Given the description of an element on the screen output the (x, y) to click on. 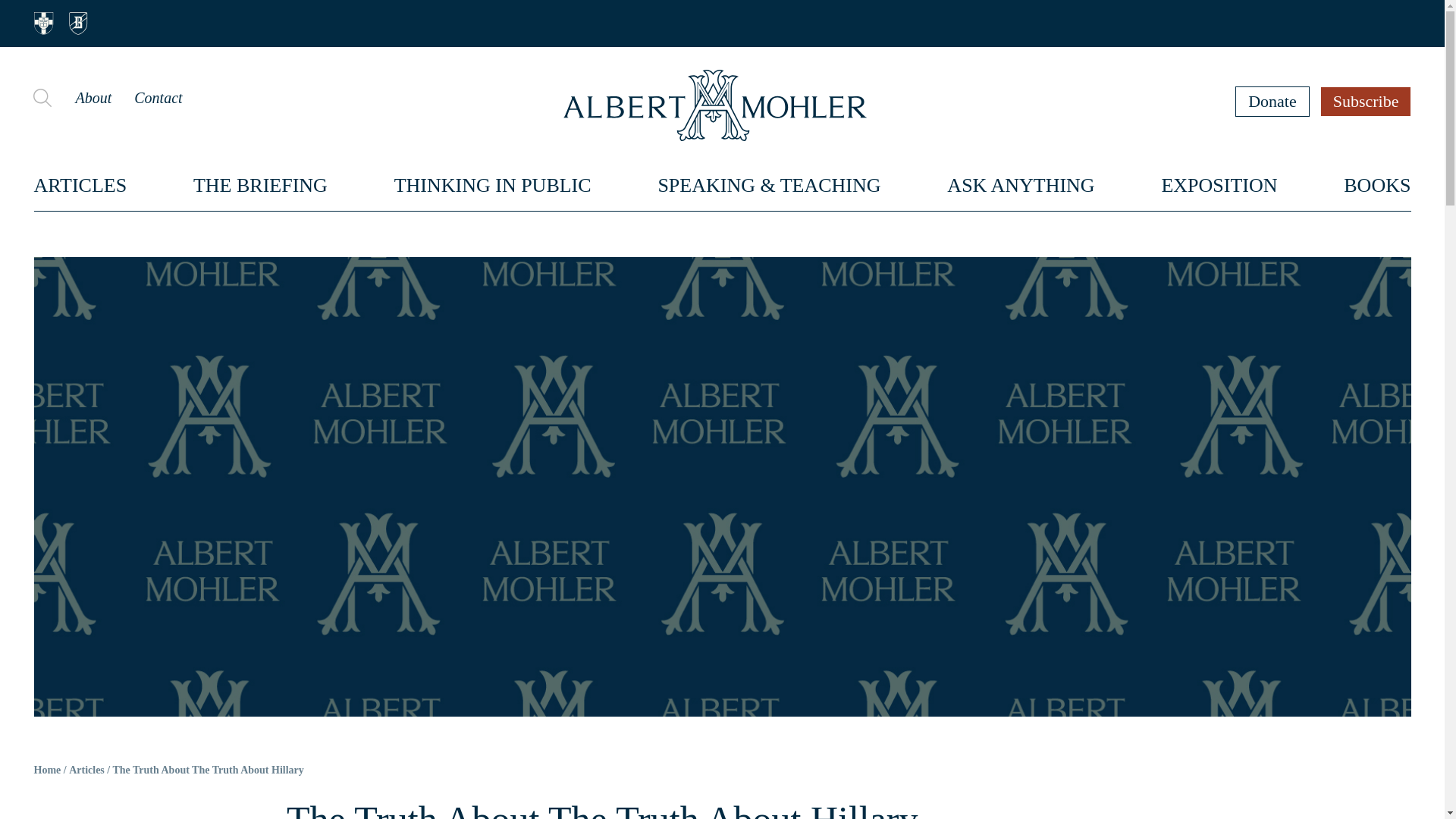
About (93, 97)
Home (47, 770)
Articles (86, 770)
Contact (157, 97)
ARTICLES (79, 185)
THE BRIEFING (260, 185)
THINKING IN PUBLIC (492, 185)
EXPOSITION (1218, 185)
ASK ANYTHING (1020, 185)
Donate (1272, 101)
